Given the description of an element on the screen output the (x, y) to click on. 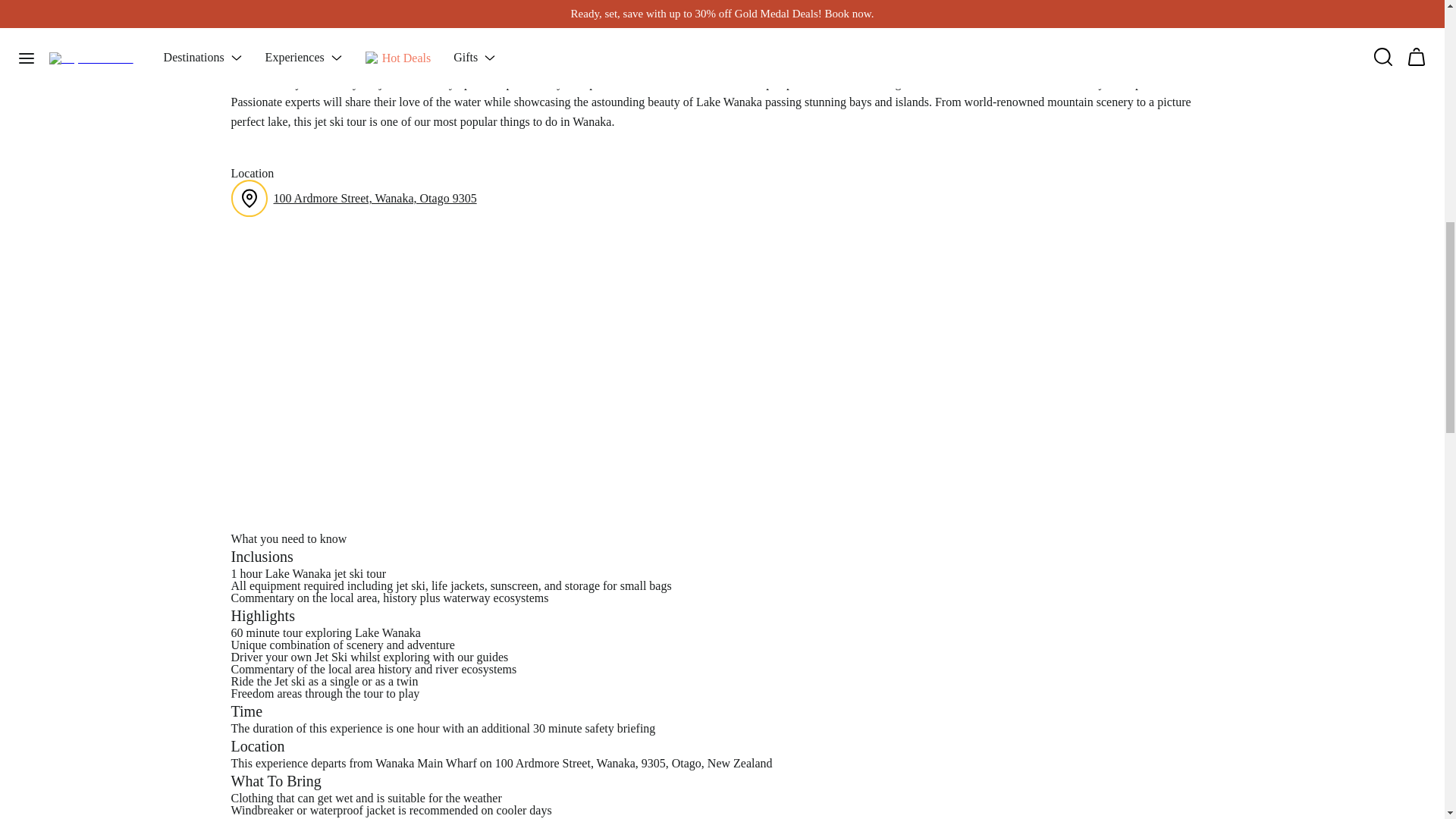
100 Ardmore Street, Wanaka, Otago 9305 (374, 198)
